Given the description of an element on the screen output the (x, y) to click on. 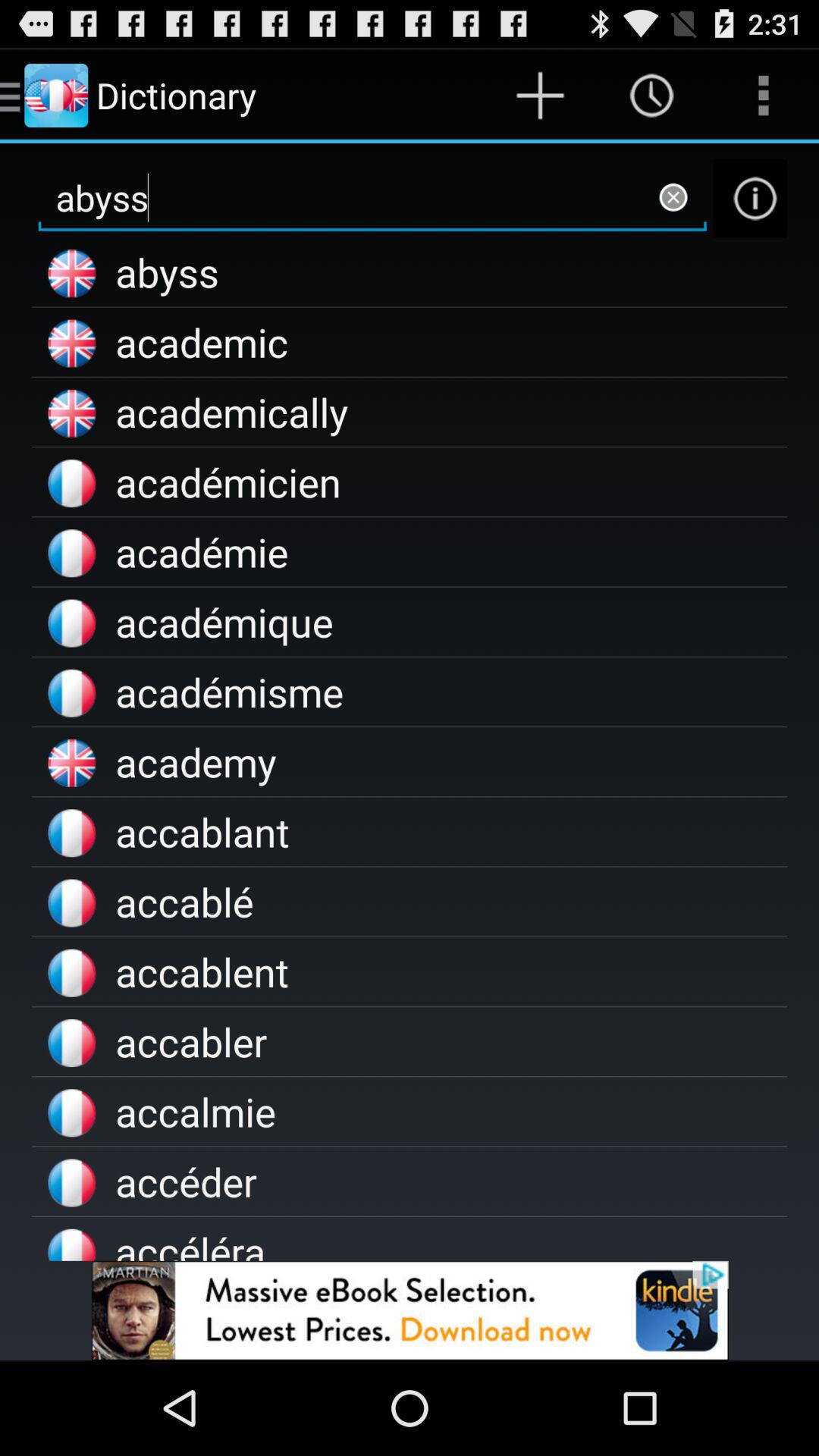
go to addverdisment (409, 1310)
